Given the description of an element on the screen output the (x, y) to click on. 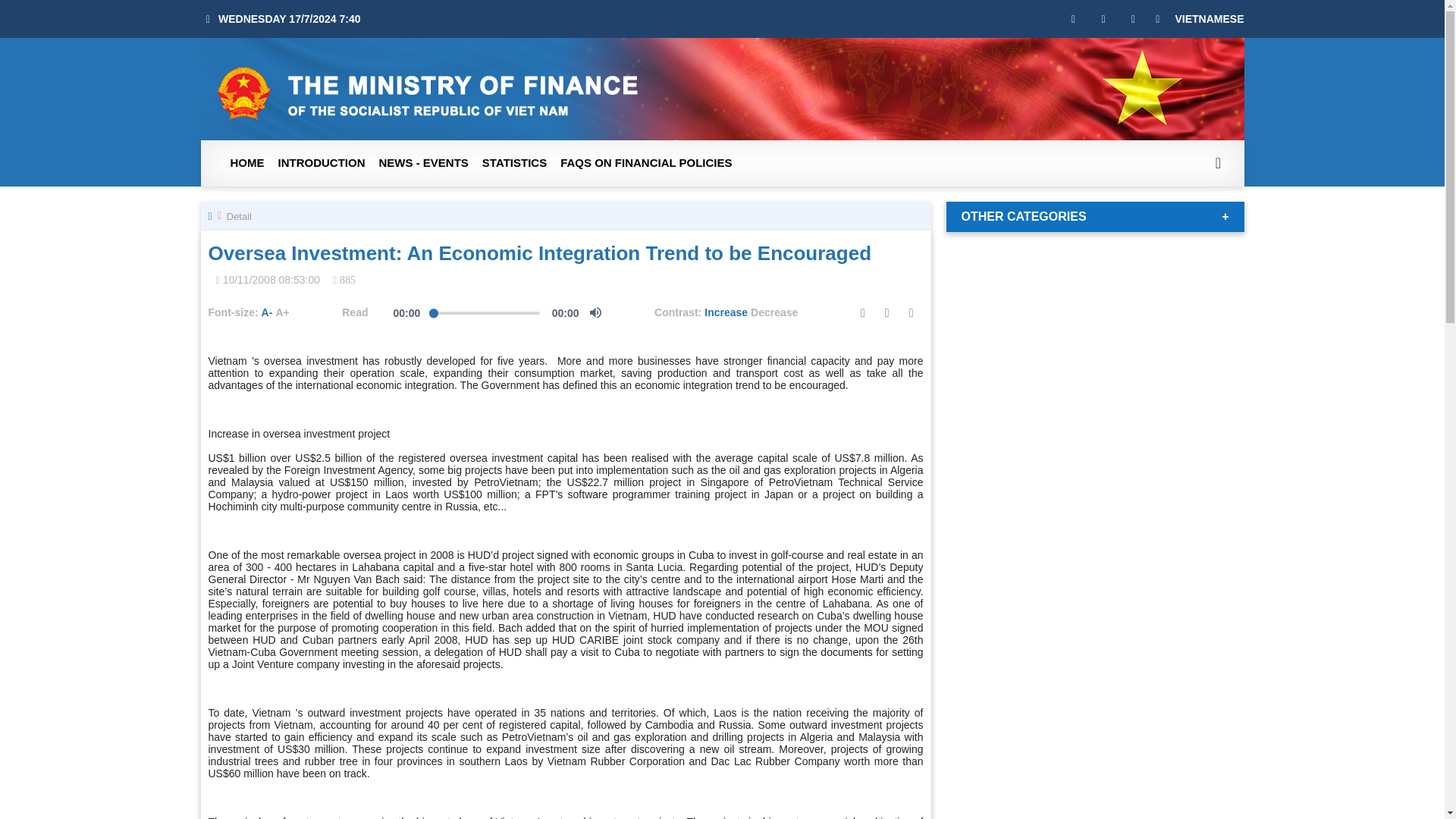
INTRODUCTION (321, 163)
Decrease (774, 312)
A- (267, 312)
Read (355, 312)
Increase (726, 312)
FAQS ON FINANCIAL POLICIES (645, 163)
Detail (239, 215)
NEWS - EVENTS (422, 163)
HOME (246, 163)
STATISTICS (514, 163)
VIETNAMESE (1208, 19)
